Given the description of an element on the screen output the (x, y) to click on. 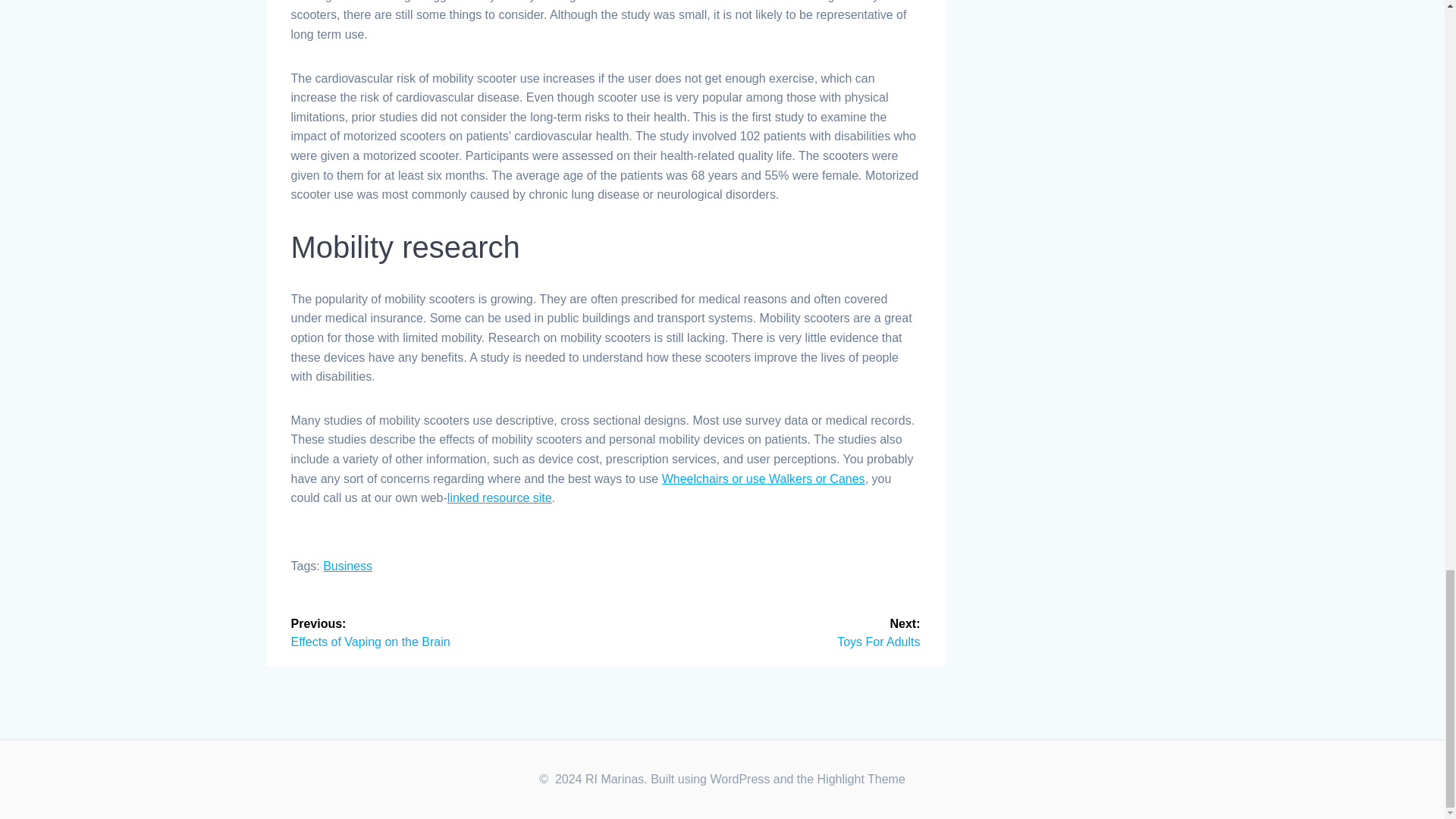
linked resource site (498, 497)
Wheelchairs or use Walkers or Canes (442, 631)
Business (768, 631)
